Given the description of an element on the screen output the (x, y) to click on. 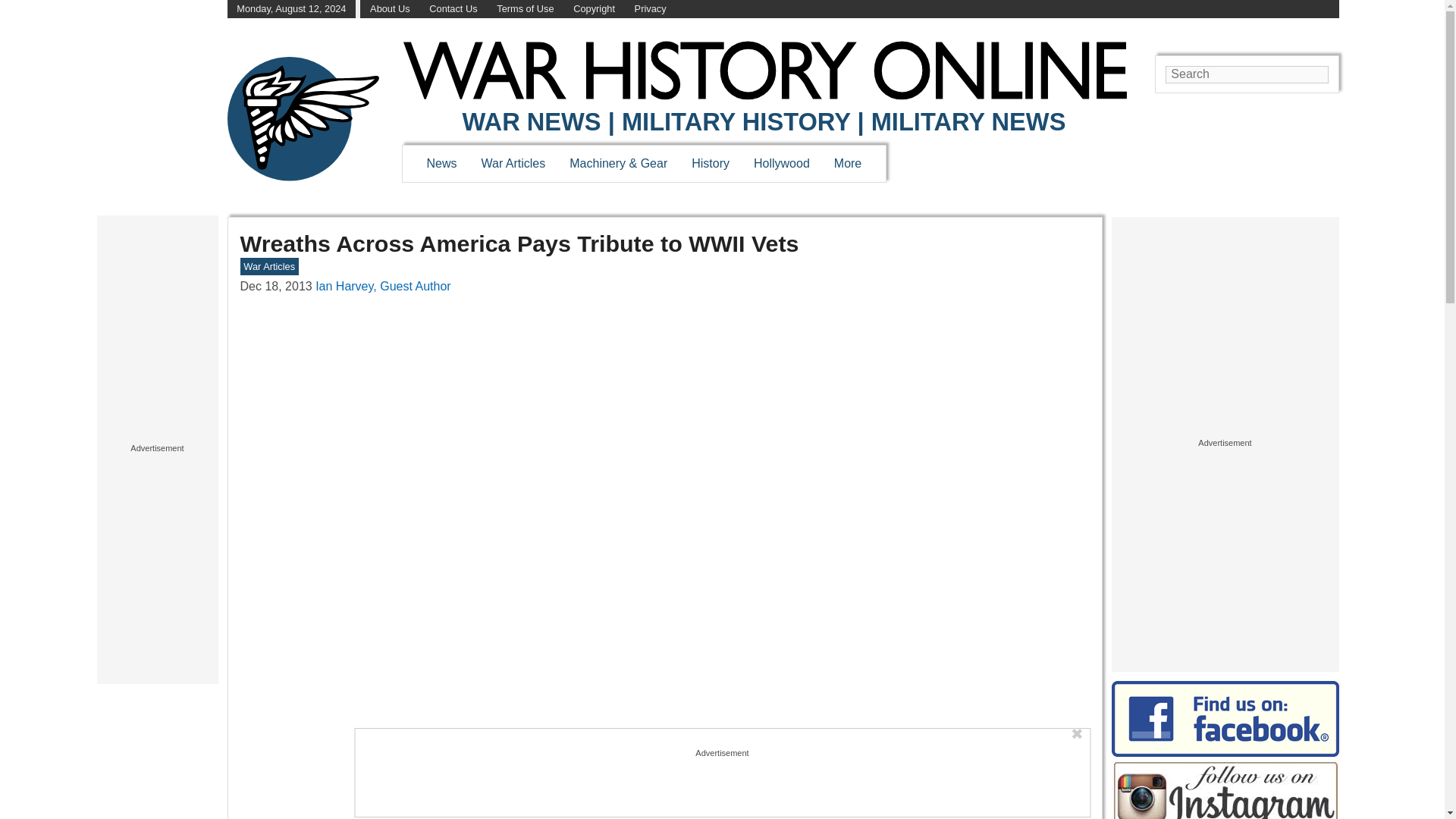
History (710, 163)
Hollywood (781, 163)
Copyright (593, 8)
Terms of Use (524, 8)
More (847, 163)
Contact Us (453, 8)
Privacy (650, 8)
News (441, 163)
War Articles (513, 163)
About Us (389, 8)
